Given the description of an element on the screen output the (x, y) to click on. 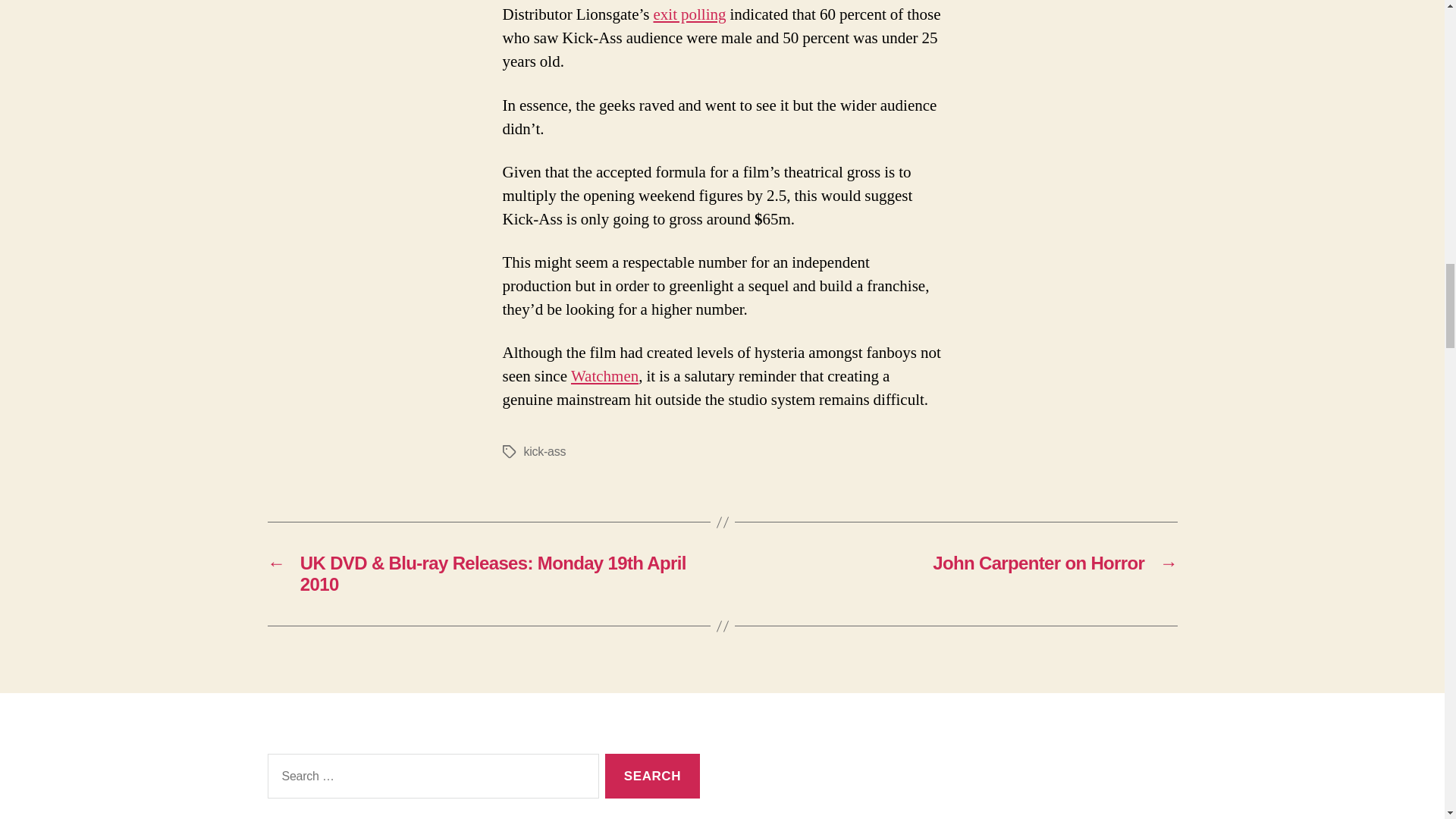
exit polling (688, 14)
Search (651, 775)
Watchmen (604, 376)
kick-ass (544, 451)
Search (651, 775)
Search (651, 775)
